Given the description of an element on the screen output the (x, y) to click on. 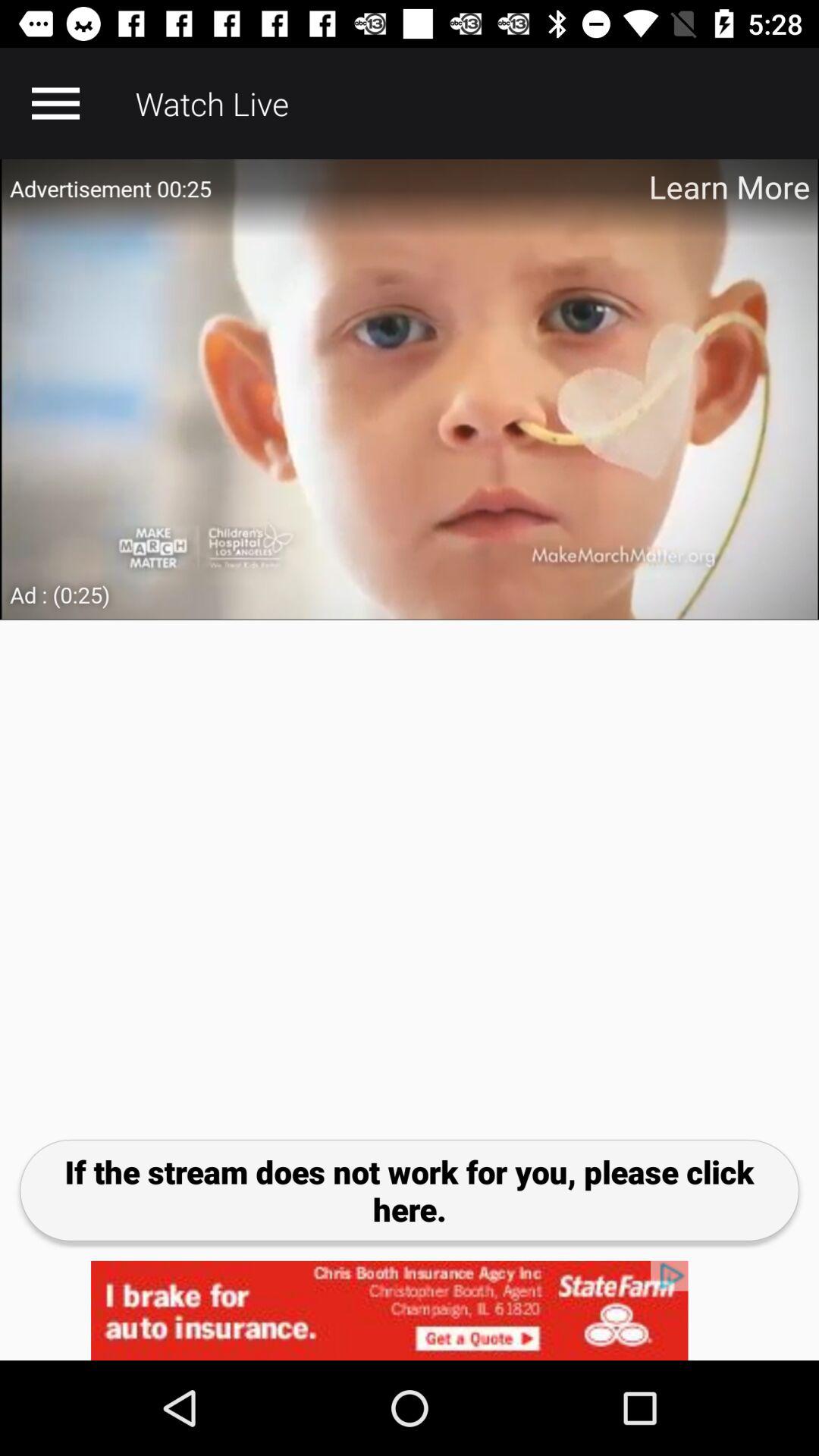
advertisement (409, 1310)
